Given the description of an element on the screen output the (x, y) to click on. 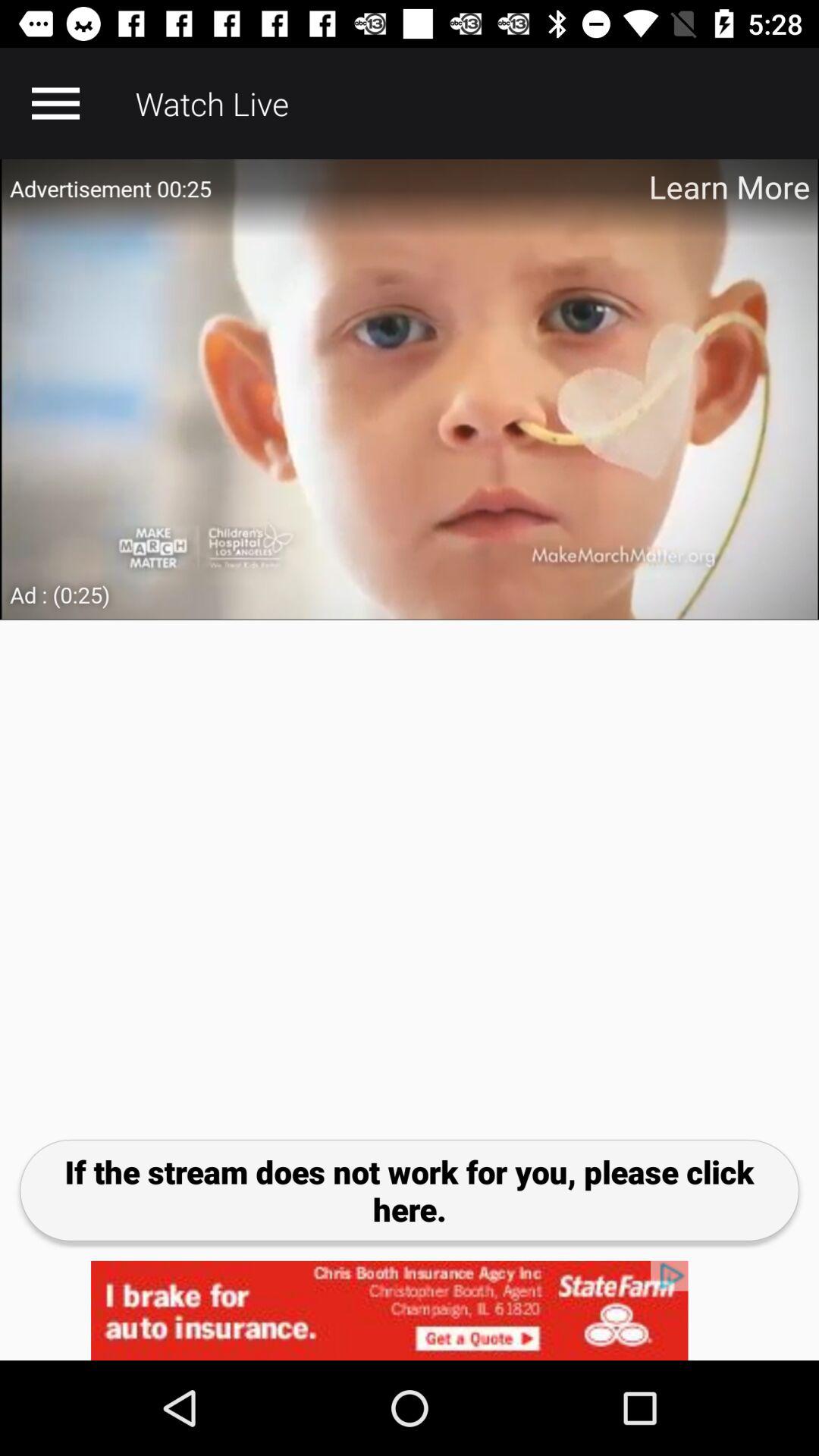
advertisement (409, 1310)
